Given the description of an element on the screen output the (x, y) to click on. 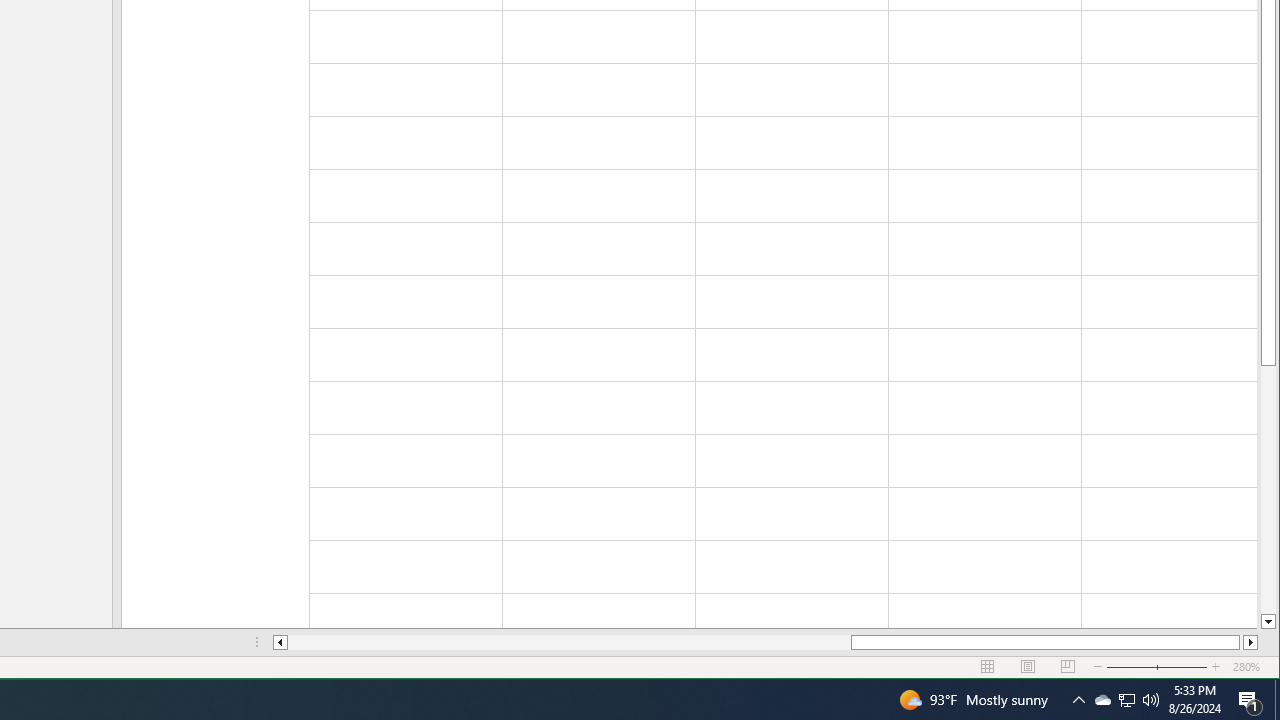
Q2790: 100% (1151, 699)
Show desktop (1277, 699)
